Given the description of an element on the screen output the (x, y) to click on. 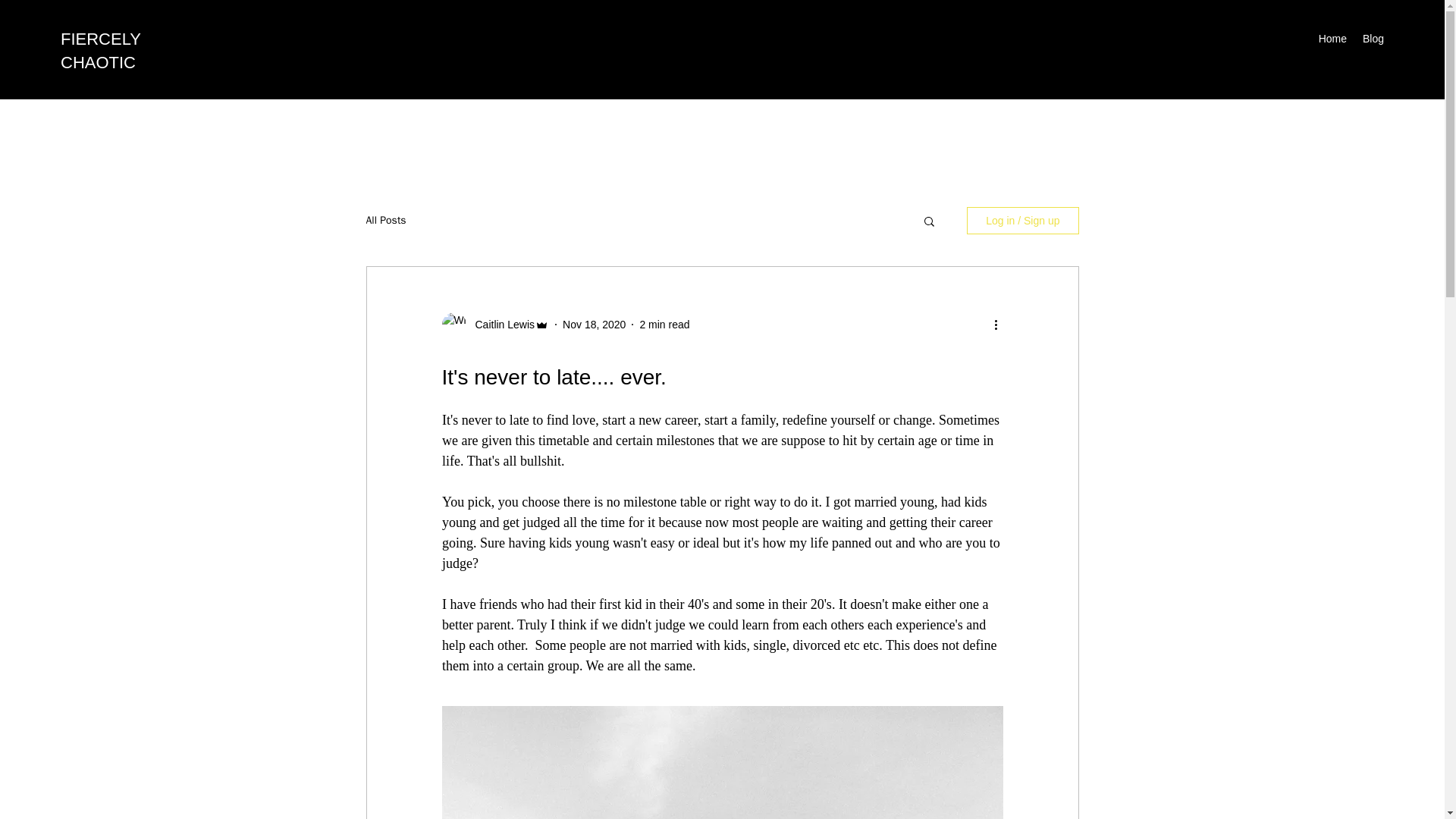
Home (1332, 38)
Caitlin Lewis (499, 324)
2 min read (663, 324)
All Posts (385, 220)
FIERCELY CHAOTIC (101, 50)
Nov 18, 2020 (594, 324)
Blog (1372, 38)
